Given the description of an element on the screen output the (x, y) to click on. 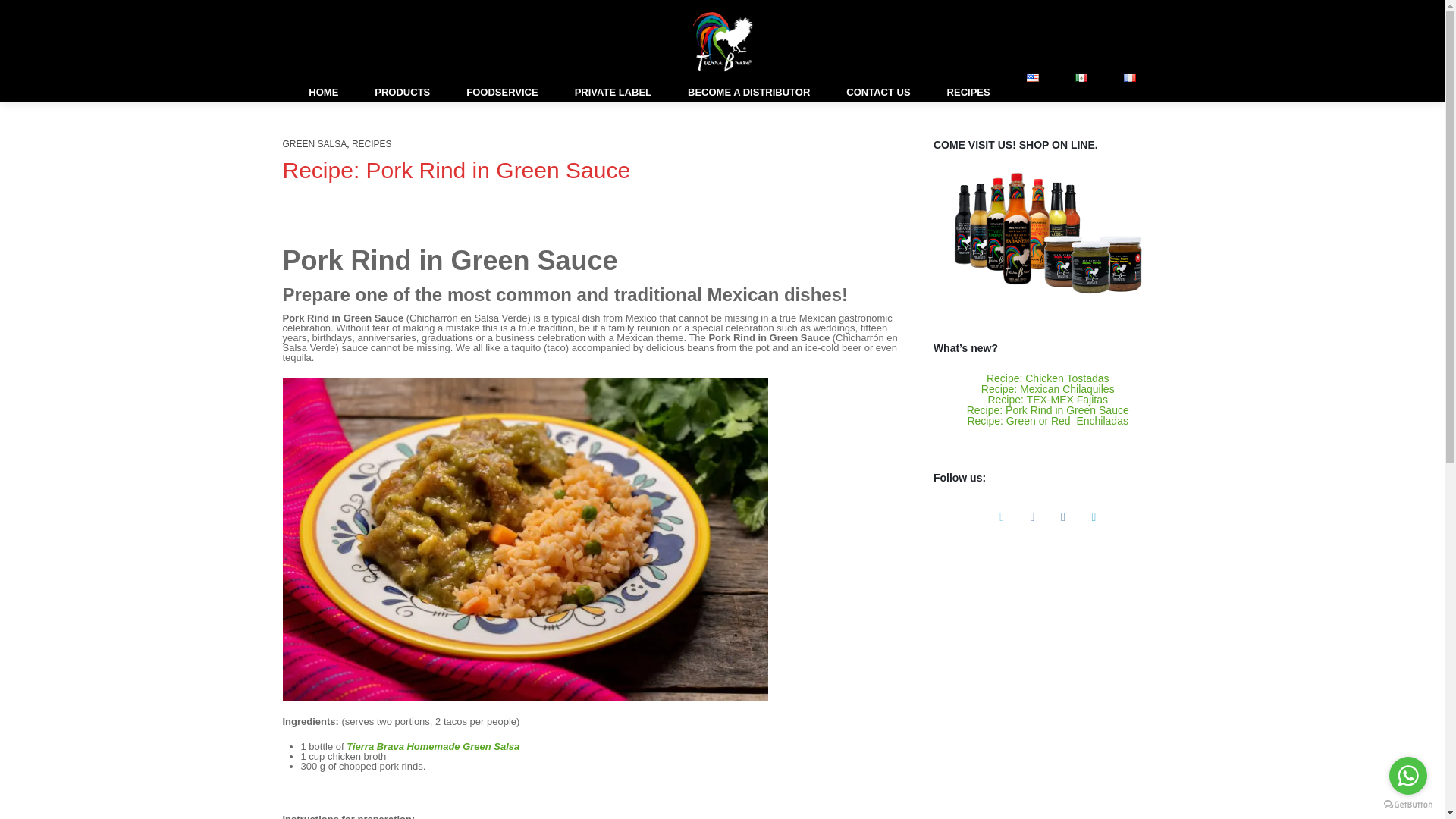
CONTACT US (878, 92)
FOODSERVICE (502, 92)
Mexican Hot Sauce (722, 41)
View all posts in Green Salsa (314, 143)
Follow on Instagram (1063, 517)
PRODUCTS (402, 92)
Follow on Twitter (1001, 517)
Follow on LinkedIn (1093, 517)
PRIVATE LABEL (612, 92)
BECOME A DISTRIBUTOR (748, 92)
